Given the description of an element on the screen output the (x, y) to click on. 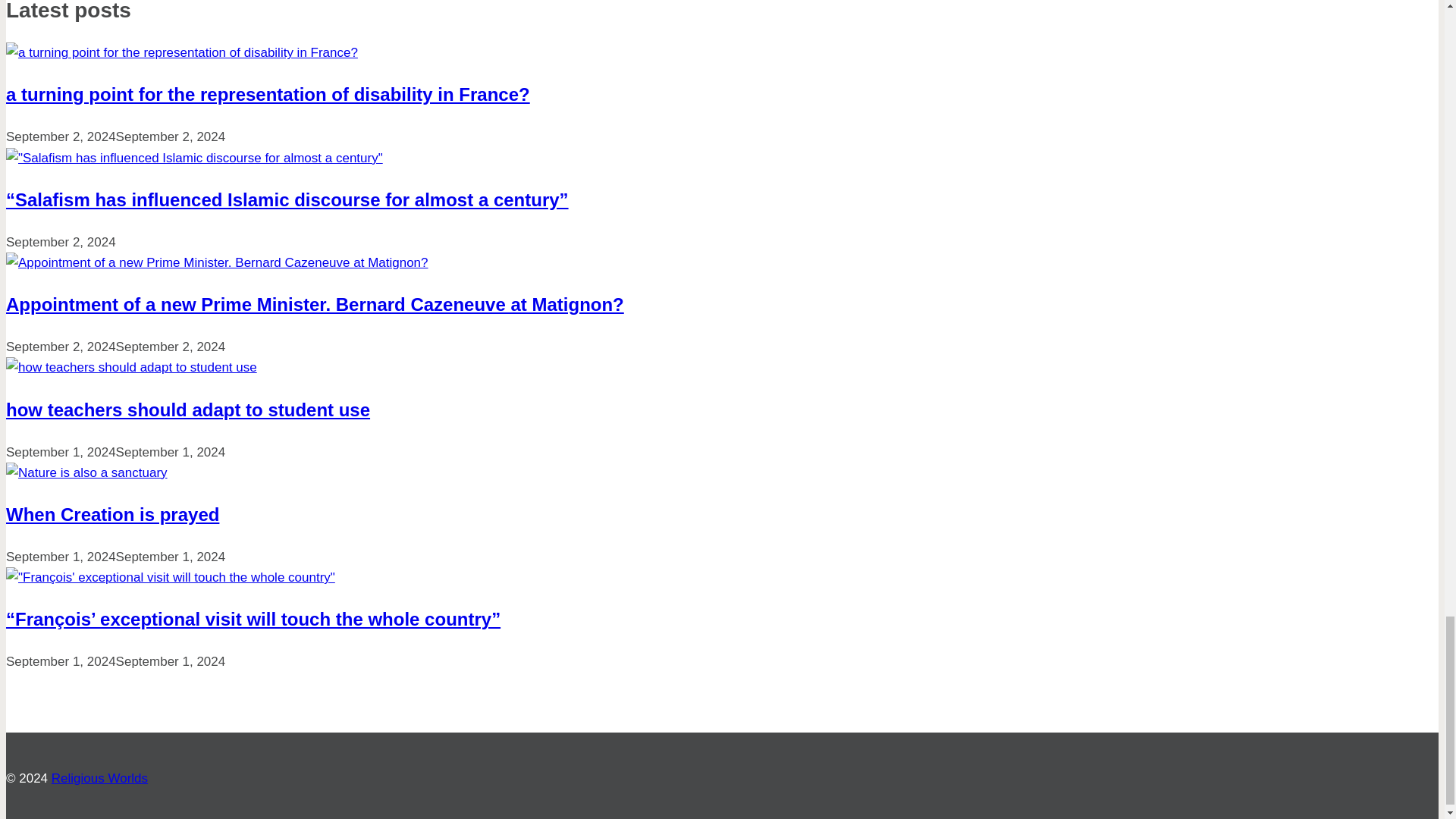
Religious Worlds (99, 778)
When Creation is prayed (112, 514)
how teachers should adapt to student use (187, 409)
